Given the description of an element on the screen output the (x, y) to click on. 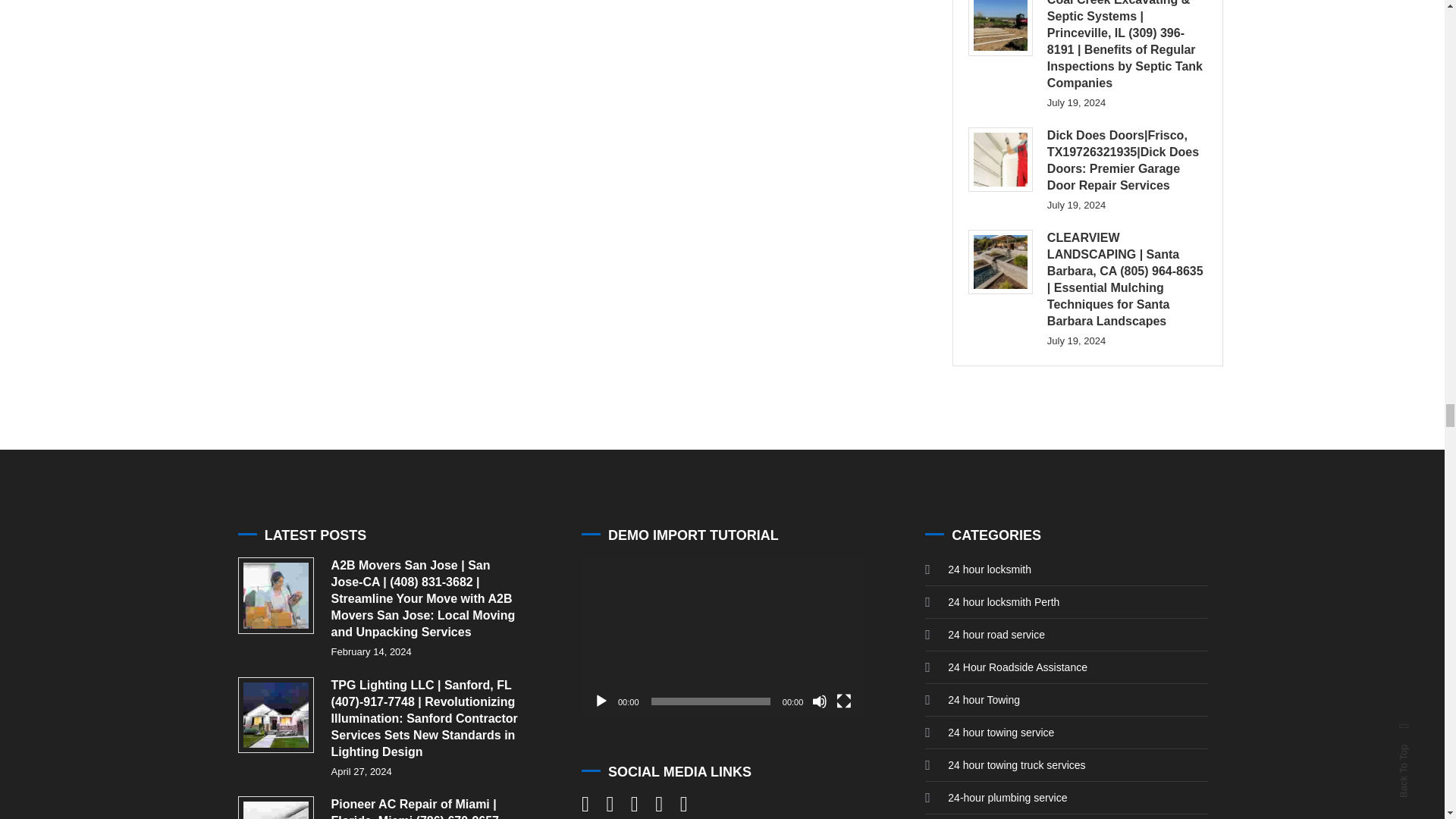
Play (601, 701)
Mute (819, 701)
Fullscreen (843, 701)
